Given the description of an element on the screen output the (x, y) to click on. 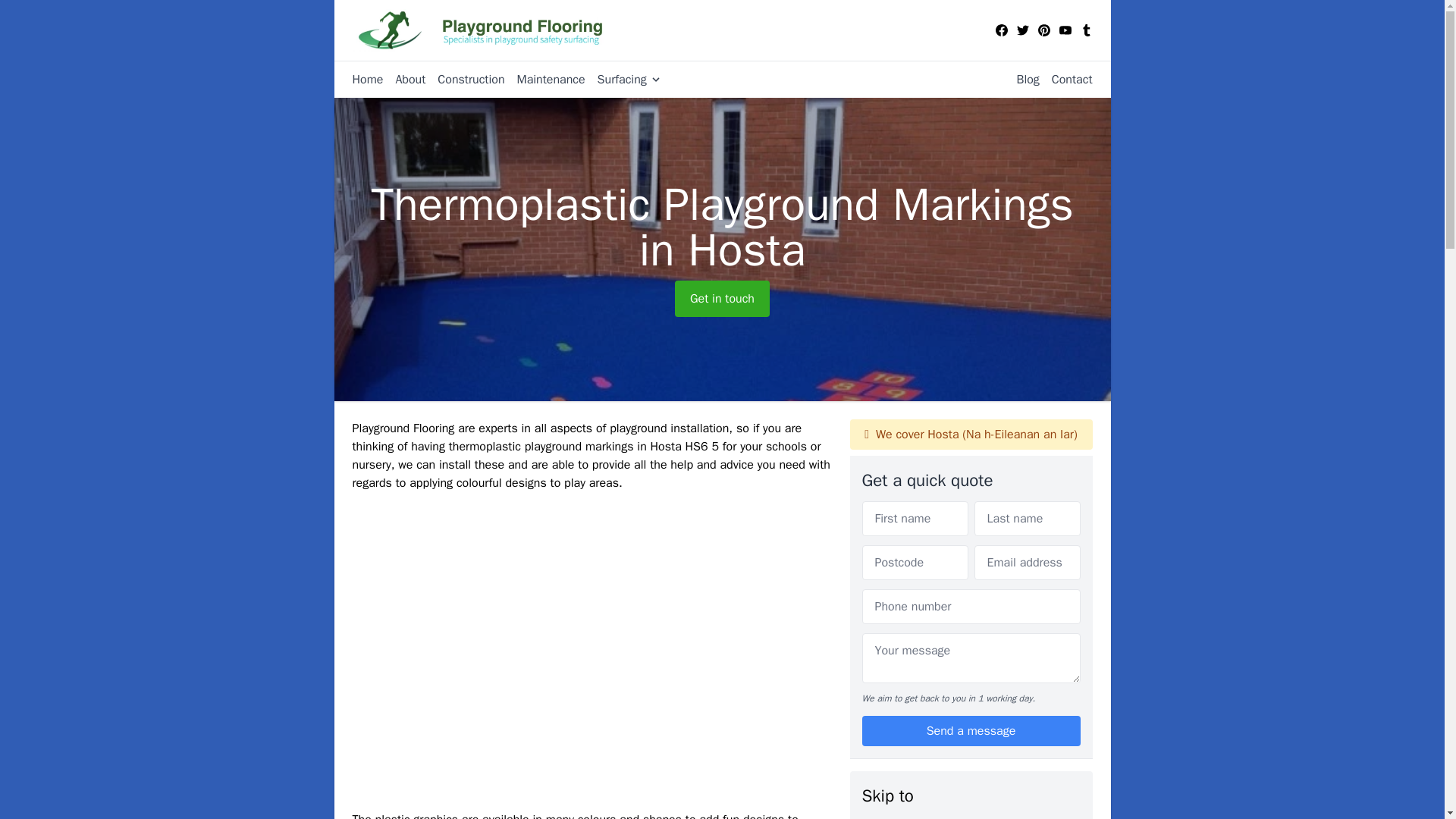
Get in touch (722, 298)
Construction (464, 79)
About (403, 79)
Surfacing (623, 79)
Blog (1021, 79)
Maintenance (545, 79)
Contact (1066, 79)
Home (367, 79)
